Given the description of an element on the screen output the (x, y) to click on. 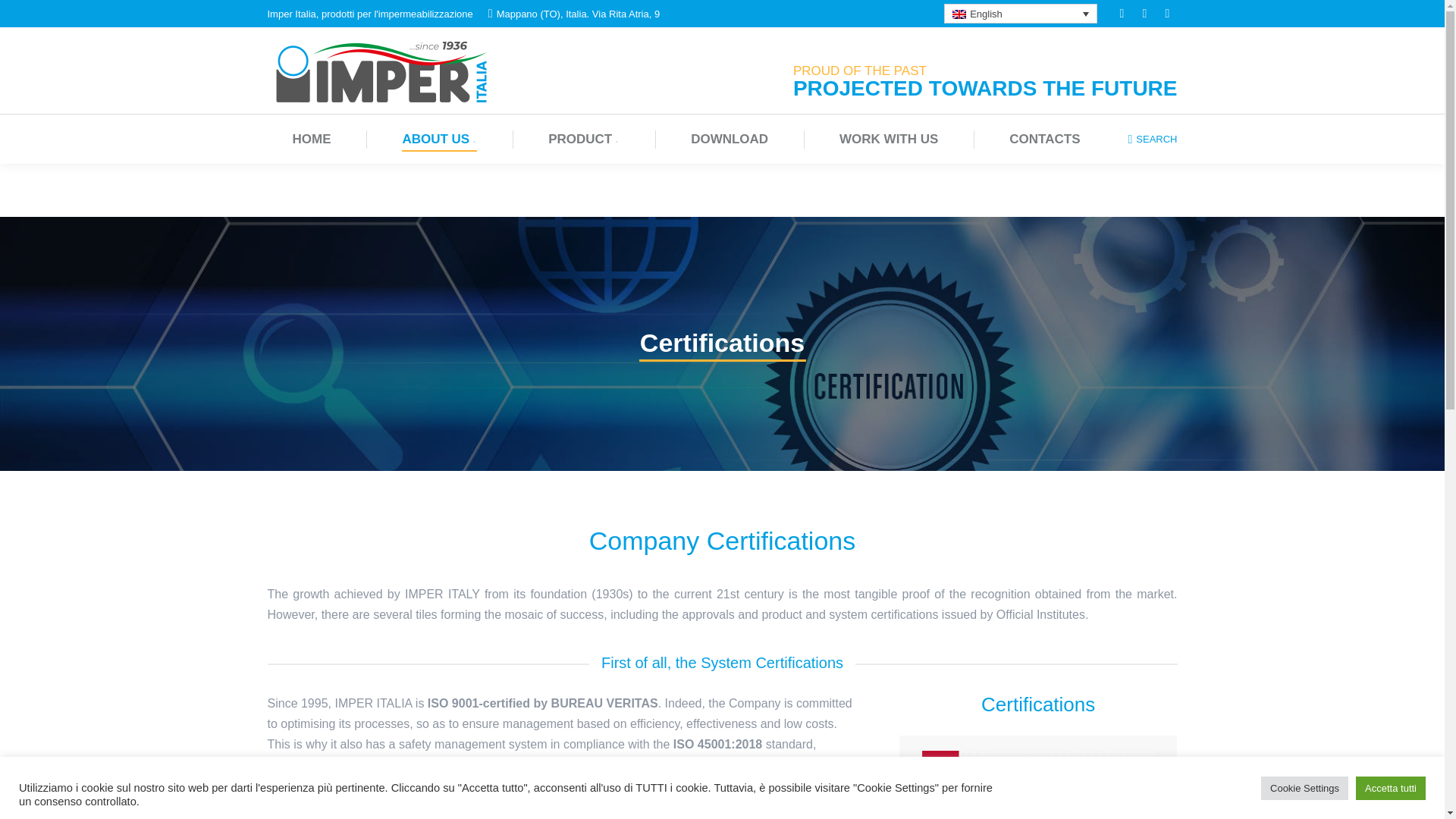
YouTube page opens in new window (1167, 13)
HOME (310, 138)
DOWNLOAD (729, 138)
Linkedin page opens in new window (1144, 13)
ABOUT US (439, 138)
PRODUCT (583, 138)
Go! (24, 15)
English (1020, 13)
Linkedin page opens in new window (1144, 13)
Facebook page opens in new window (1122, 13)
WORK WITH US (887, 138)
SEARCH (1151, 138)
YouTube page opens in new window (1167, 13)
CONTACTS (1044, 138)
Facebook page opens in new window (1122, 13)
